Given the description of an element on the screen output the (x, y) to click on. 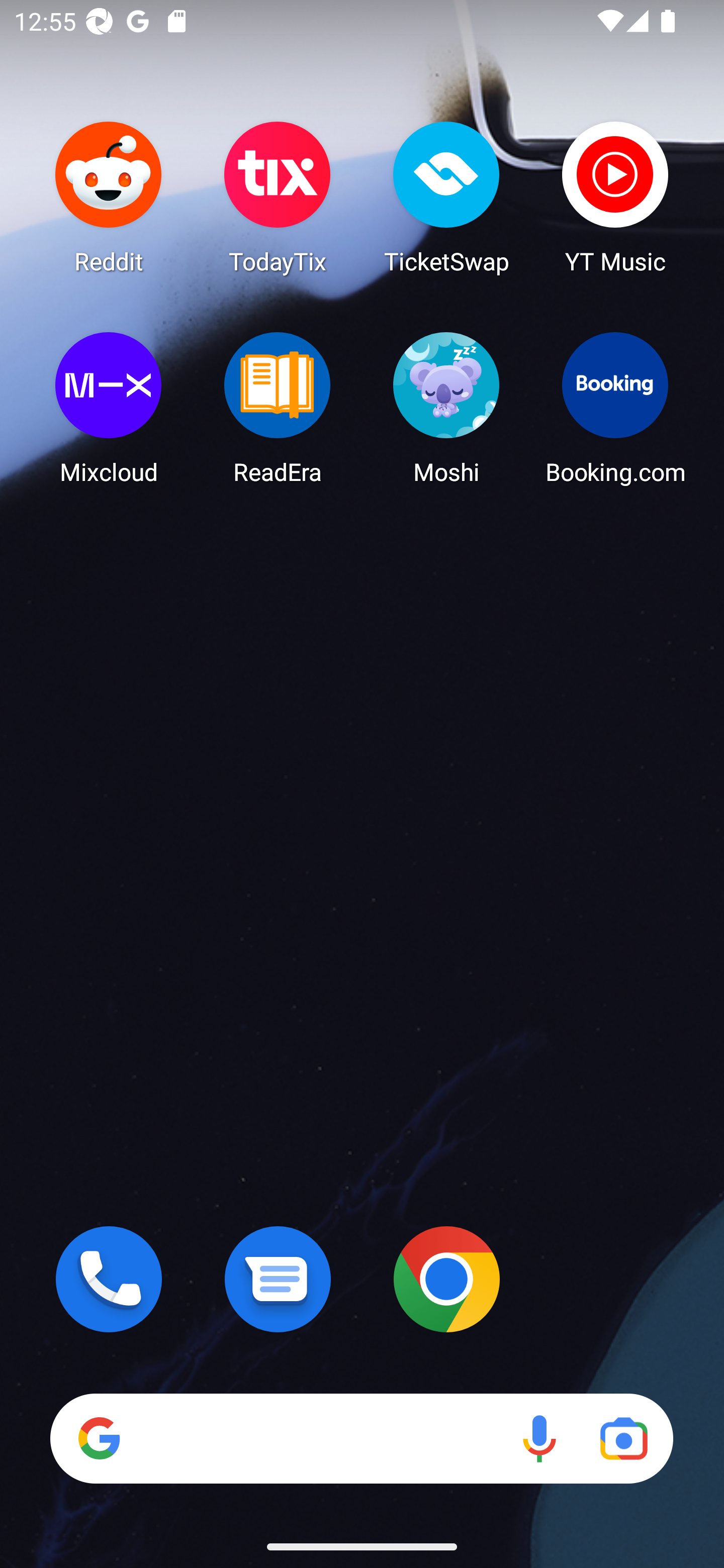
Reddit (108, 196)
TodayTix (277, 196)
TicketSwap (445, 196)
YT Music (615, 196)
Mixcloud (108, 407)
ReadEra (277, 407)
Moshi (445, 407)
Booking.com (615, 407)
Phone (108, 1279)
Messages (277, 1279)
Chrome (446, 1279)
Search Voice search Google Lens (361, 1438)
Voice search (539, 1438)
Google Lens (623, 1438)
